Given the description of an element on the screen output the (x, y) to click on. 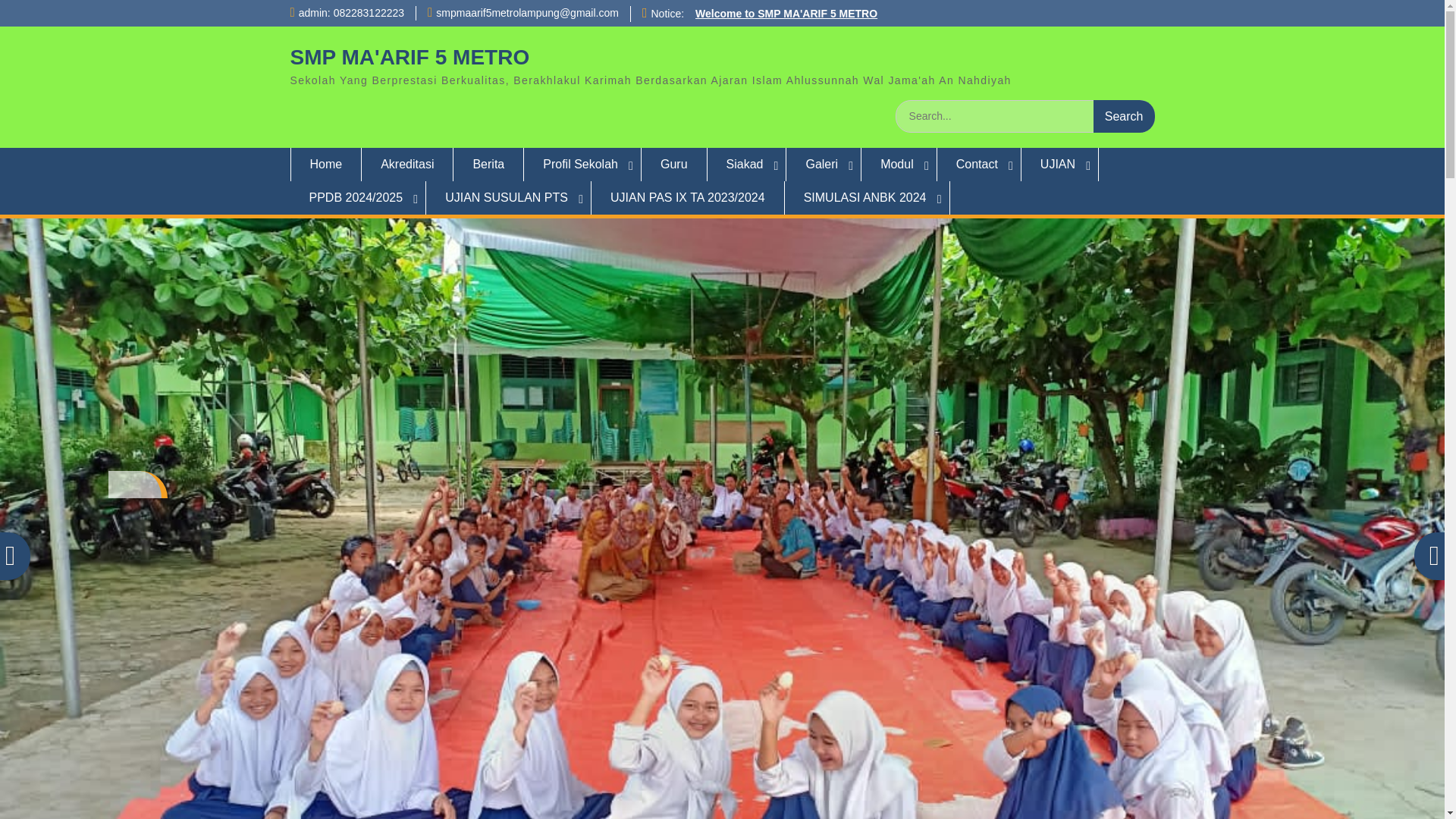
Search (1123, 115)
Welcome to SMP MA'ARIF 5 METRO (786, 13)
Akreditasi (406, 164)
admin: 082283122223 (351, 12)
SMP MA'ARIF 5 METRO (409, 56)
UJIAN (1060, 164)
Modul (899, 164)
Search (1123, 115)
Siakad (747, 164)
Contact (979, 164)
